Given the description of an element on the screen output the (x, y) to click on. 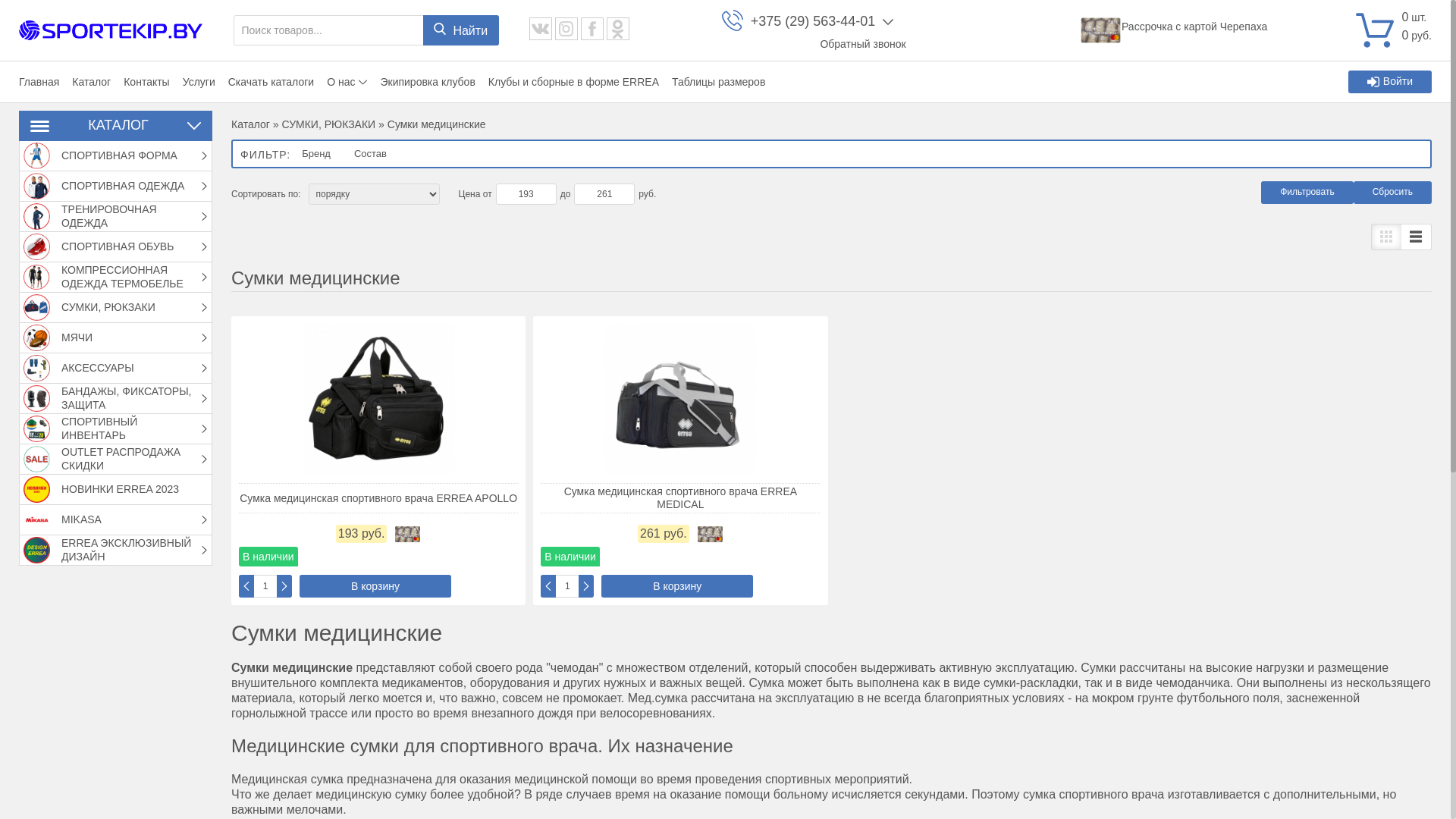
+375 (29) 563-44-01 Element type: text (812, 21)
Facebook Element type: hover (591, 28)
Sportekip Element type: hover (110, 30)
MIKASA Element type: text (130, 519)
Instagram Element type: hover (566, 28)
MIKASA Element type: hover (36, 520)
